Given the description of an element on the screen output the (x, y) to click on. 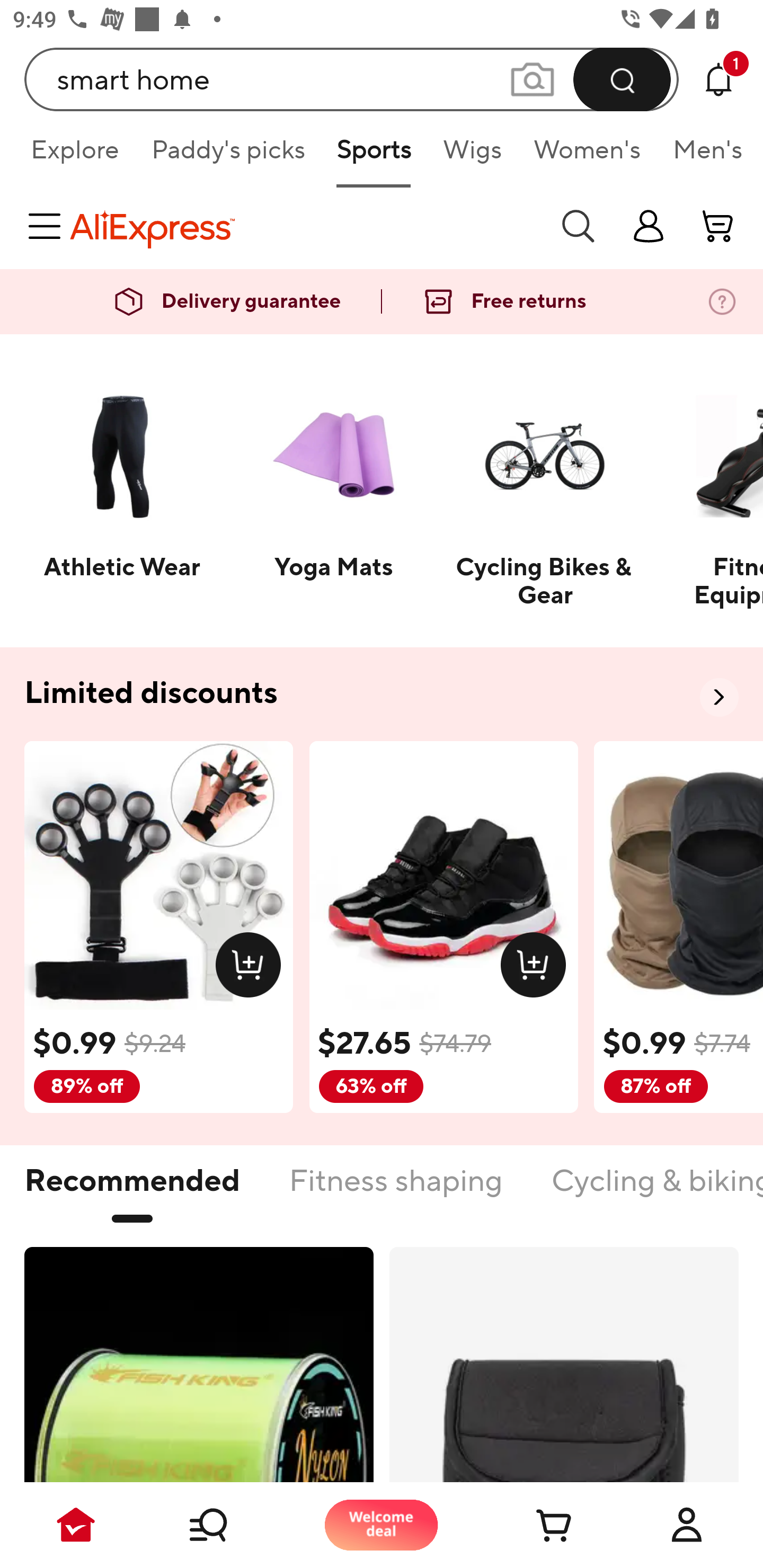
smart home (351, 79)
Explore (74, 155)
Paddy's picks (227, 155)
Wigs (472, 155)
Women's (586, 155)
Men's (701, 155)
aliexpress (305, 225)
category (47, 225)
shop (648, 225)
account (718, 225)
Limited discounts  Limited discounts (381, 694)
128x128.png_ (252, 967)
128x128.png_ (536, 967)
Recommended (132, 1191)
Fitness shaping (395, 1191)
Cycling & biking (656, 1191)
Shop (228, 1524)
Cart (533, 1524)
Account (686, 1524)
